Given the description of an element on the screen output the (x, y) to click on. 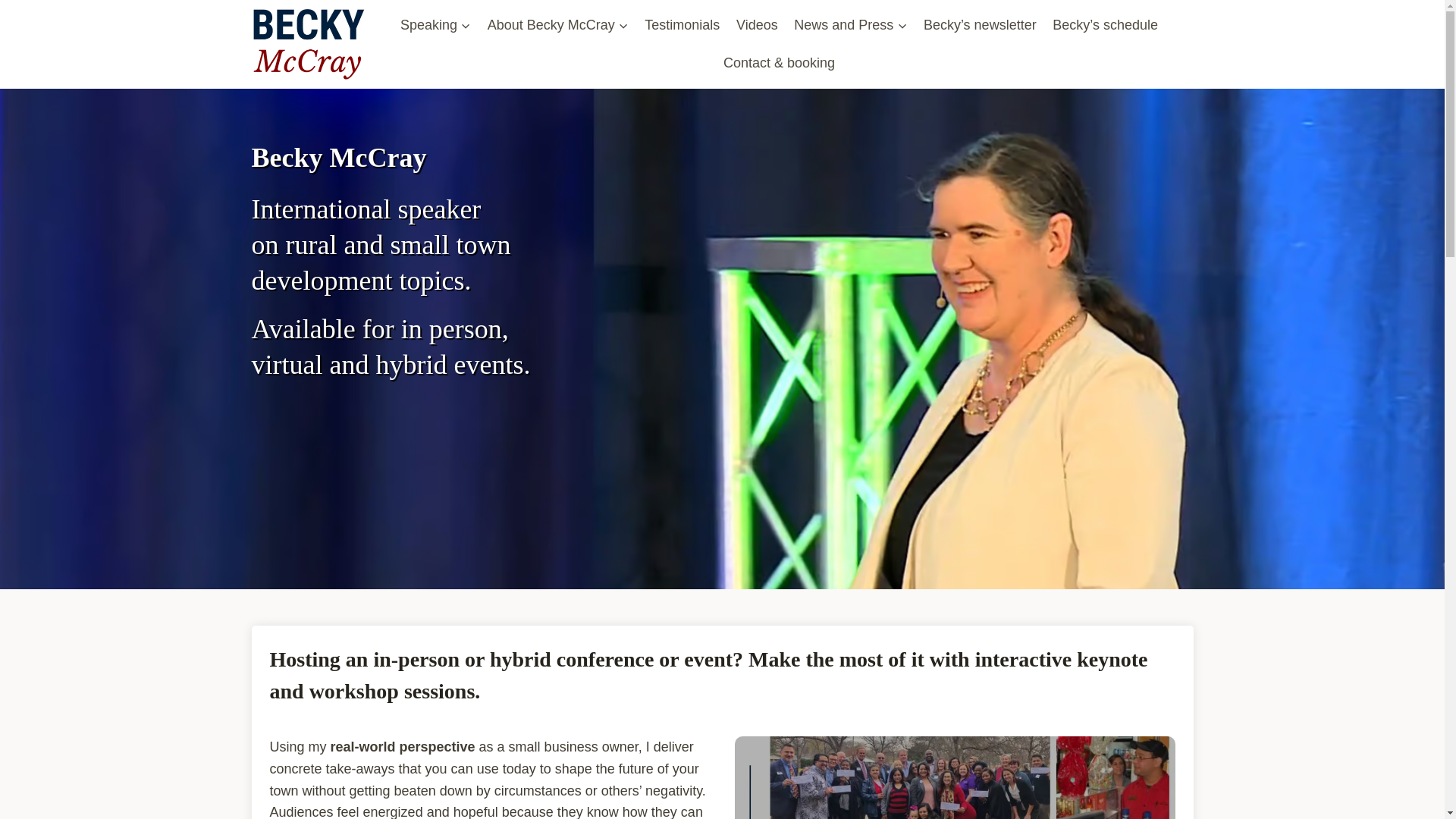
About Becky McCray (558, 24)
News and Press (850, 24)
Testimonials (683, 24)
Videos (757, 24)
Speaking (435, 24)
